Given the description of an element on the screen output the (x, y) to click on. 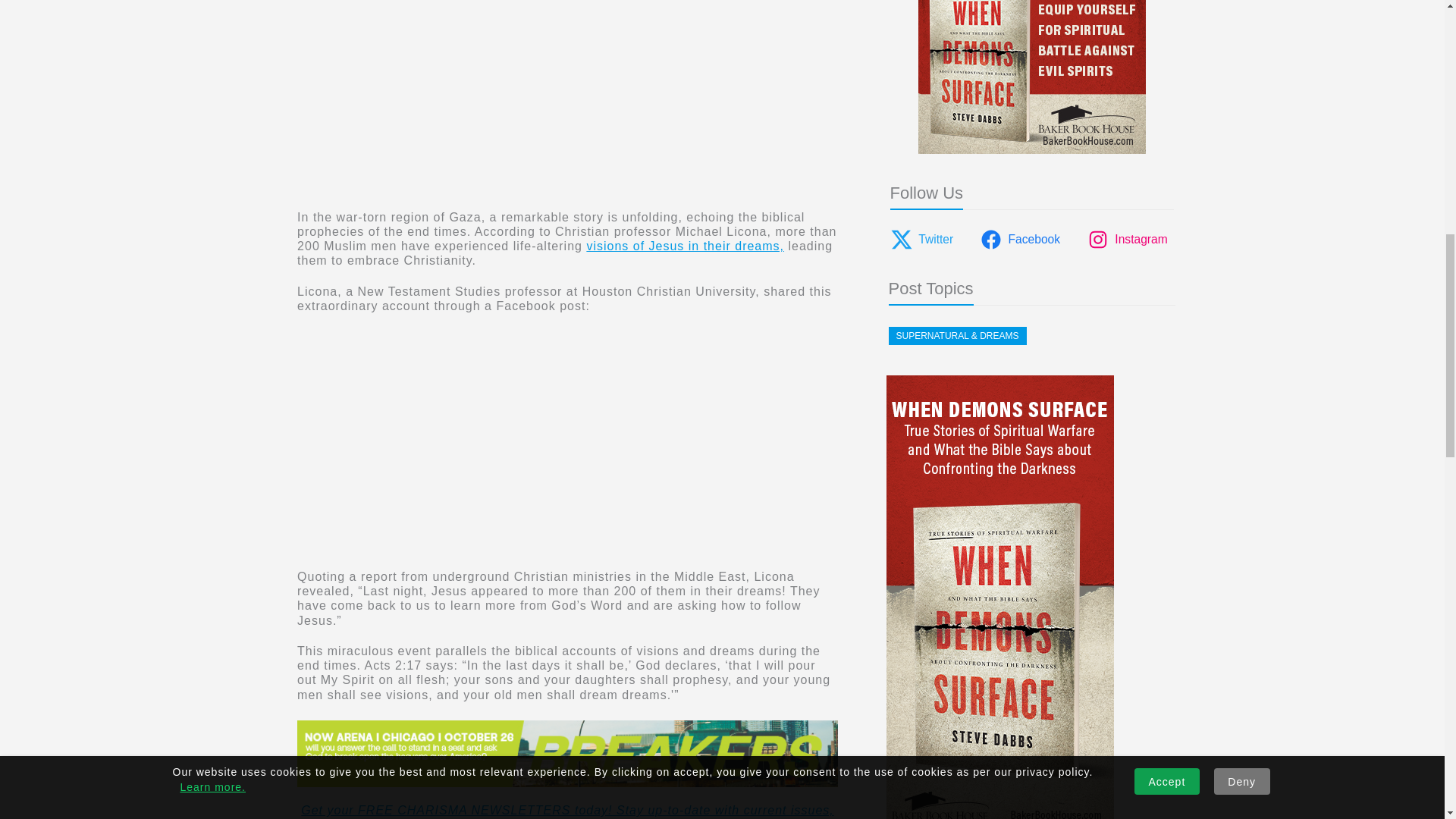
YouTube video player (509, 95)
